Given the description of an element on the screen output the (x, y) to click on. 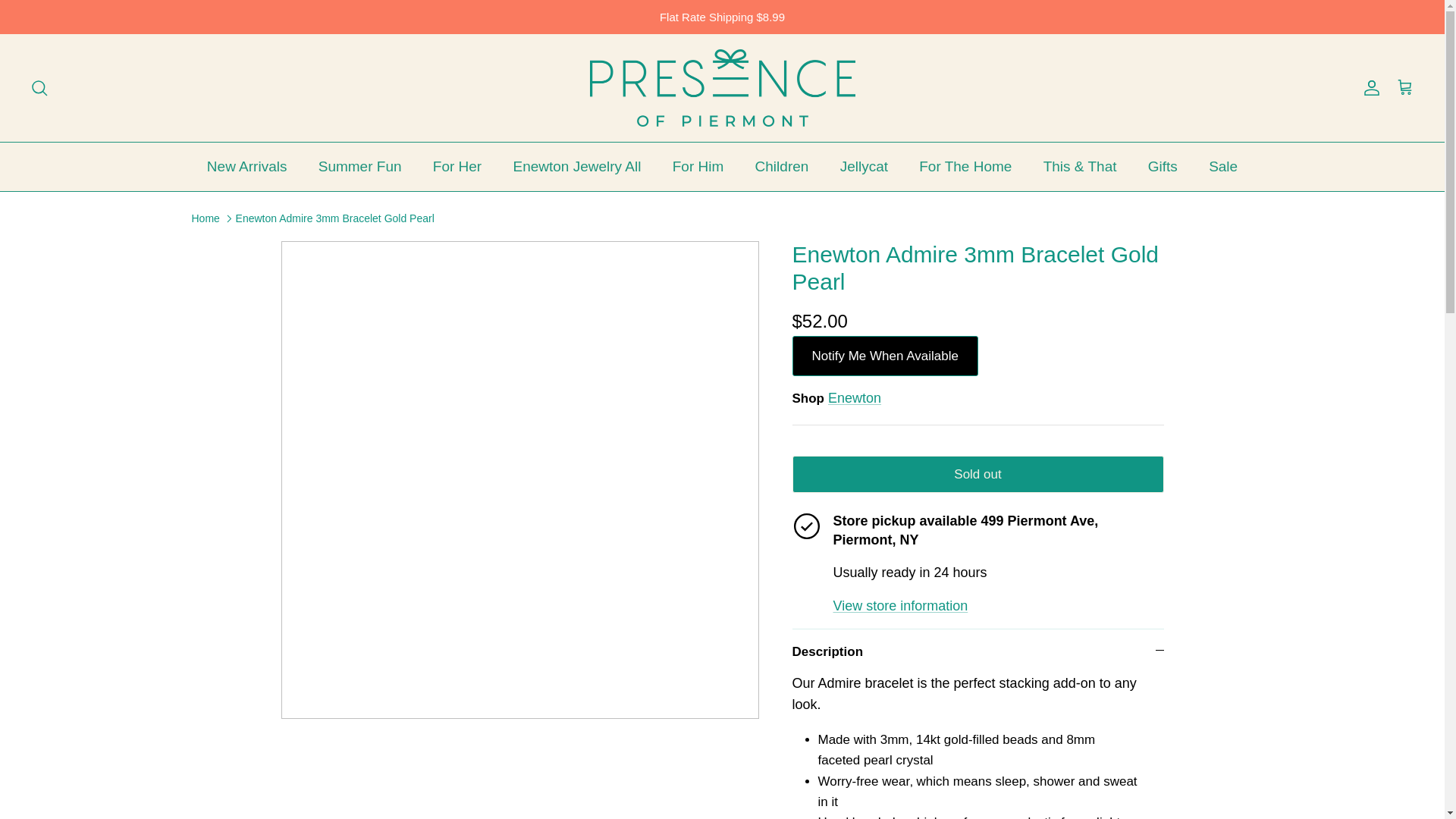
Summer Fun (359, 166)
Account (1368, 87)
New Arrivals (247, 166)
Store Hours (900, 605)
Presence of Piermont (722, 87)
Search (39, 87)
For Her (457, 166)
Cart (1404, 87)
